Given the description of an element on the screen output the (x, y) to click on. 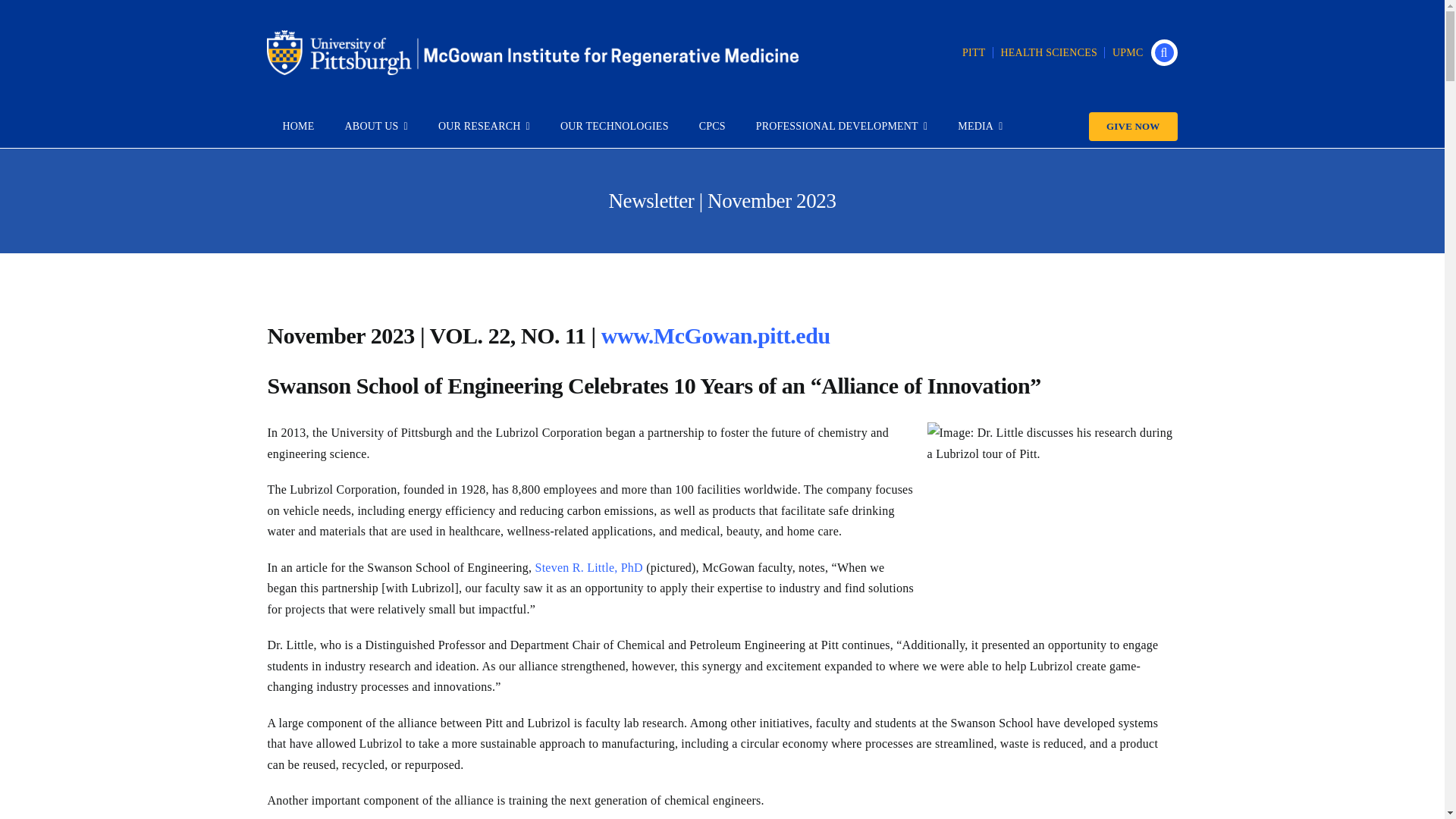
HEALTH SCIENCES (1048, 52)
Search (1164, 52)
HOME (297, 126)
OUR RESEARCH (483, 126)
CPCS (712, 126)
ABOUT US (376, 126)
PROFESSIONAL DEVELOPMENT (841, 126)
UPMC (1128, 52)
PITT (973, 52)
OUR TECHNOLOGIES (614, 126)
